Given the description of an element on the screen output the (x, y) to click on. 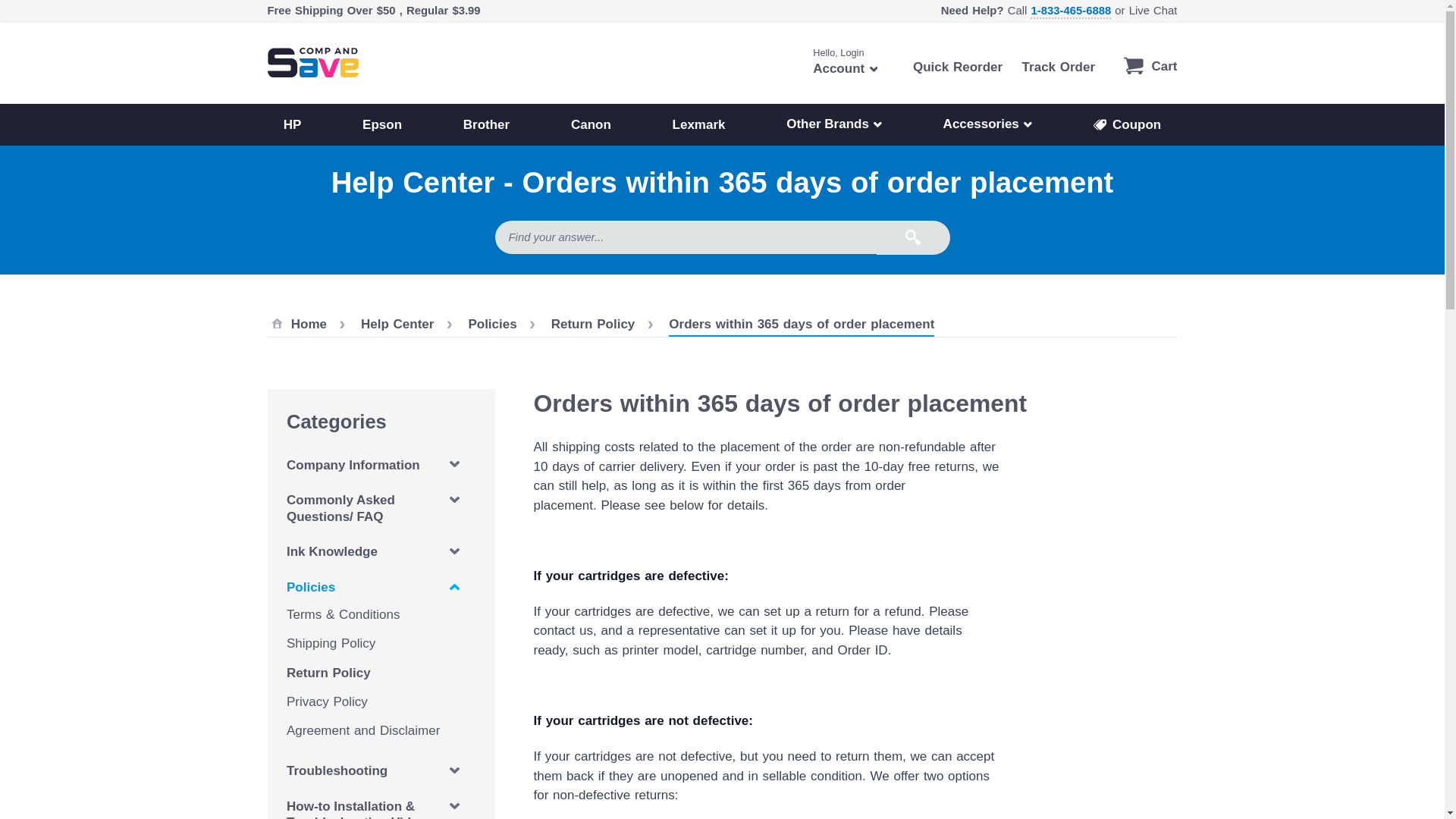
Search (913, 237)
Canon (590, 124)
Cart (844, 63)
Quick Reorder (1150, 65)
Contact our agent via Live Chat (957, 67)
1-833-465-6888 (1153, 10)
Epson (1070, 10)
HP (381, 124)
Brother (291, 124)
